Given the description of an element on the screen output the (x, y) to click on. 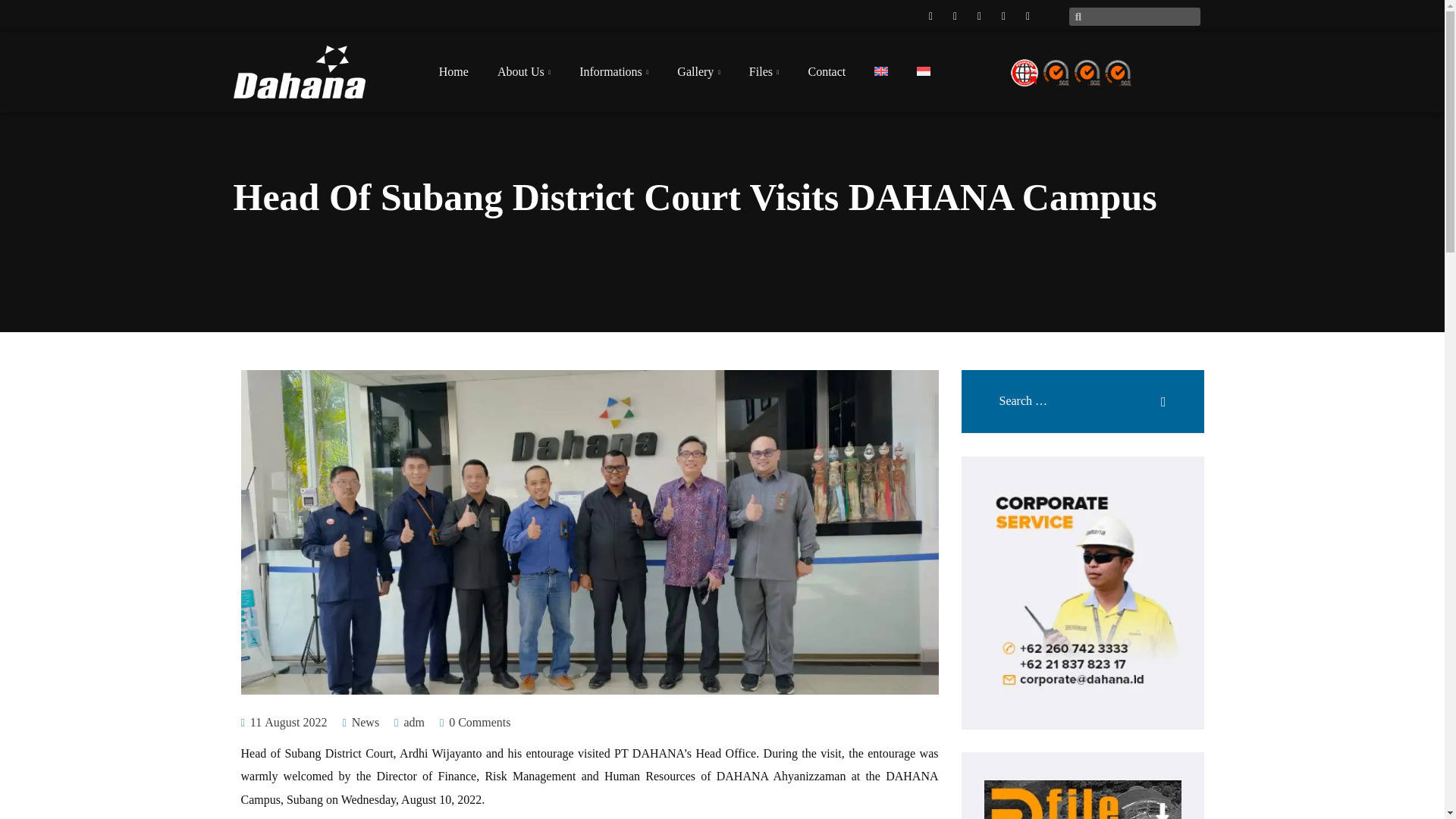
Search (1147, 393)
Search (1147, 393)
About Us (523, 71)
Home (453, 71)
